Given the description of an element on the screen output the (x, y) to click on. 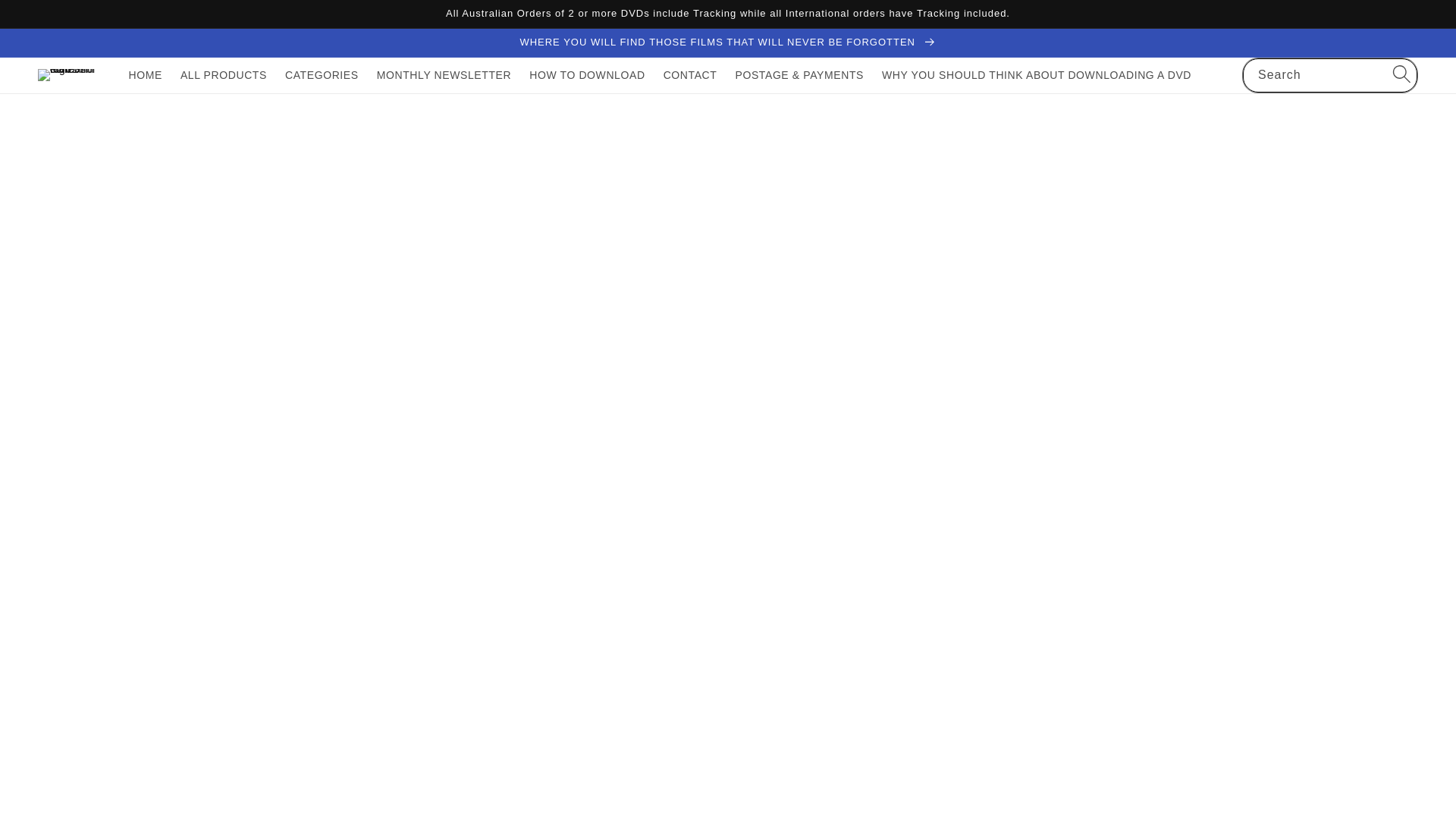
WHY YOU SHOULD THINK ABOUT DOWNLOADING A DVD (1035, 74)
MONTHLY NEWSLETTER (444, 74)
ALL PRODUCTS (223, 74)
HOME (145, 74)
HOW TO DOWNLOAD (586, 74)
CONTACT (689, 74)
Skip to content (45, 17)
CATEGORIES (322, 74)
